Given the description of an element on the screen output the (x, y) to click on. 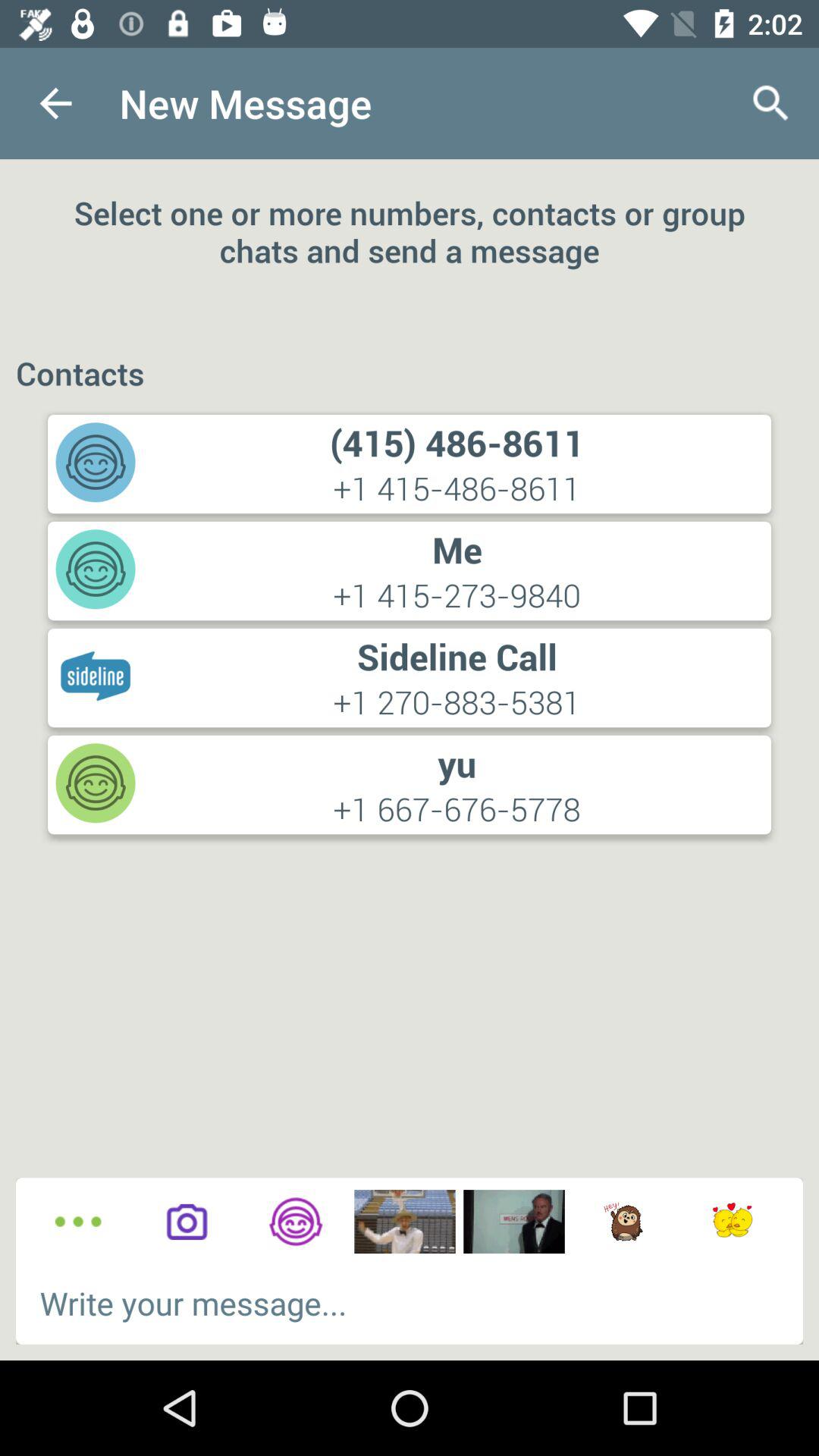
open the icon above select one or icon (771, 103)
